Given the description of an element on the screen output the (x, y) to click on. 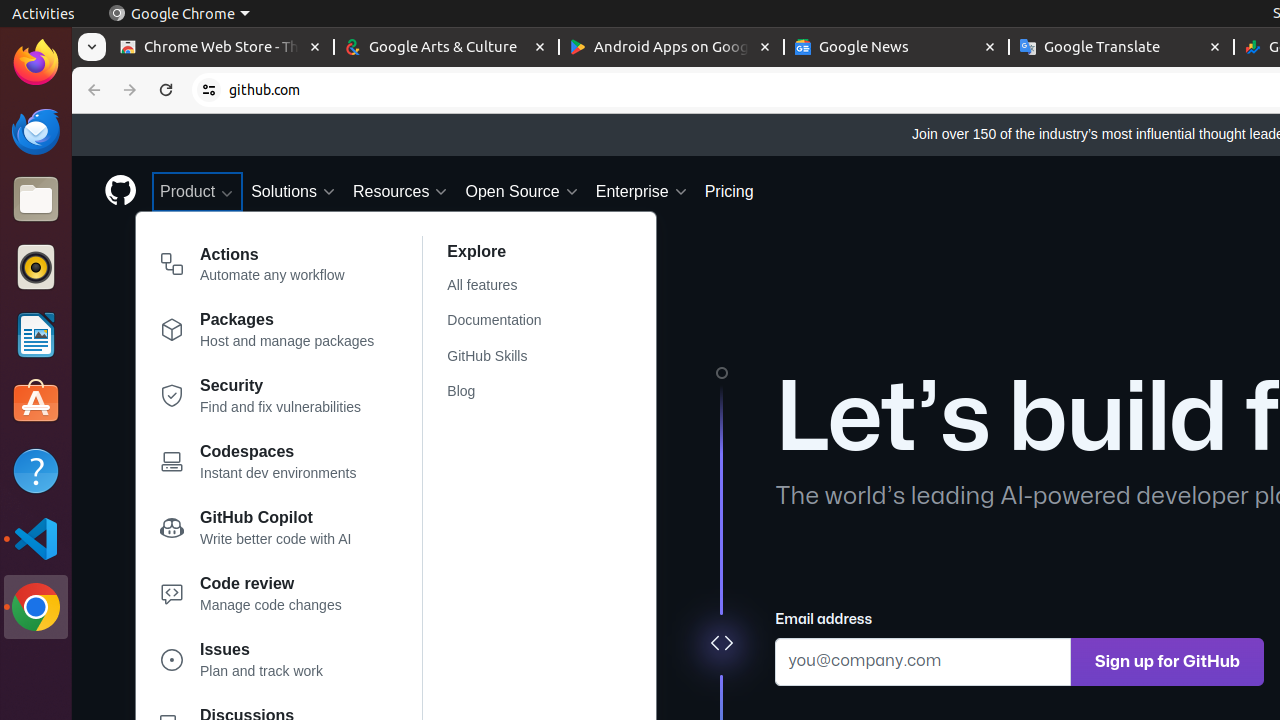
Forward Element type: push-button (130, 90)
View site information Element type: push-button (209, 90)
Rhythmbox Element type: push-button (36, 267)
Packages Host and manage packages Element type: link (267, 334)
GitHub Skills Element type: link (506, 356)
